Given the description of an element on the screen output the (x, y) to click on. 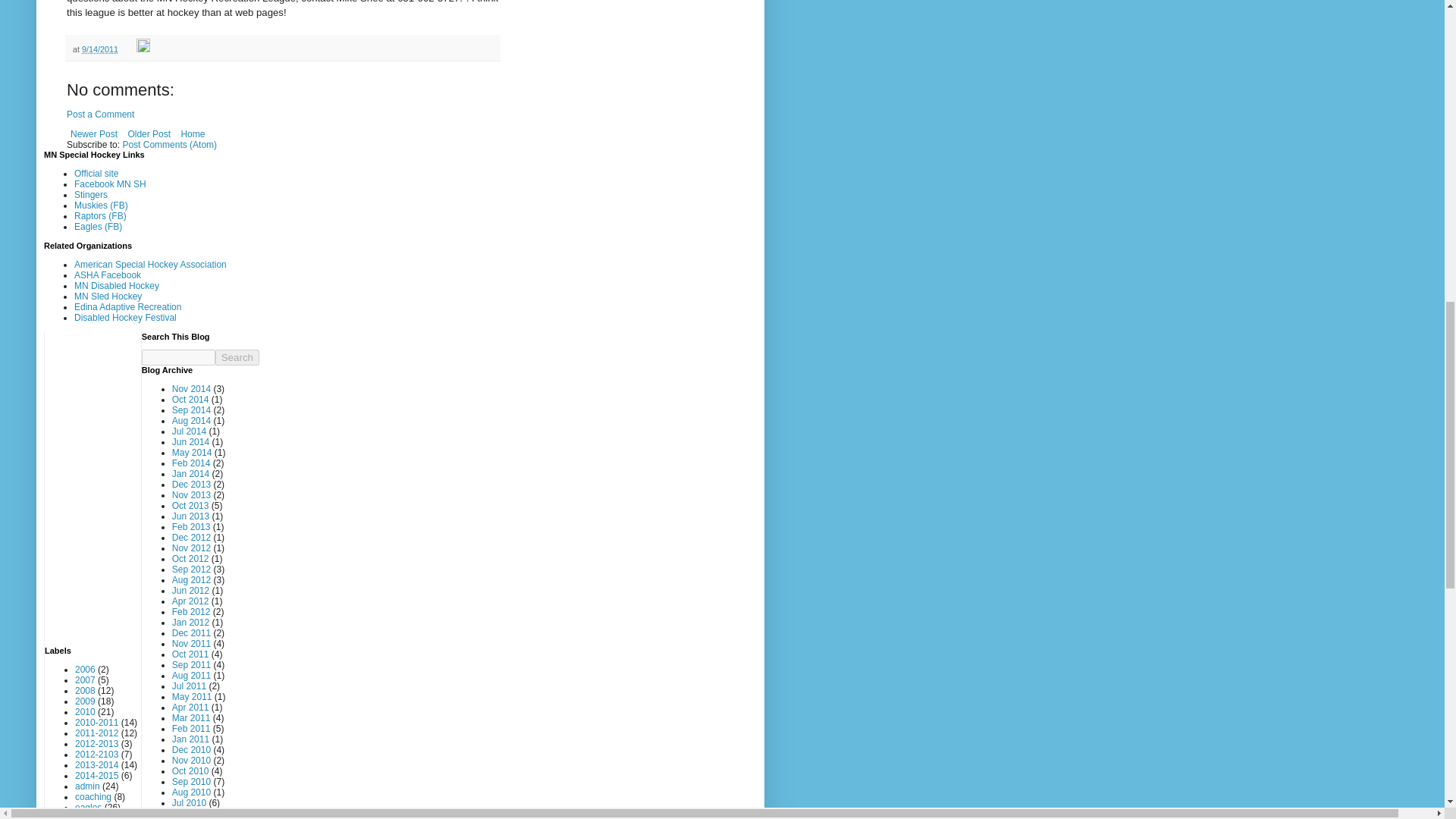
2013-2014 (96, 765)
2012-2013 (96, 743)
Newer Post (93, 134)
ASHA Facebook (107, 275)
2010-2011 (96, 722)
search (178, 357)
Facebook MN SH (110, 184)
MN Disabled Hockey (116, 285)
Older Post (148, 134)
Search (237, 357)
Edina Adaptive Recreation (127, 307)
2011-2012 (96, 733)
2007 (85, 679)
Stingers (90, 194)
Official site (95, 173)
